Given the description of an element on the screen output the (x, y) to click on. 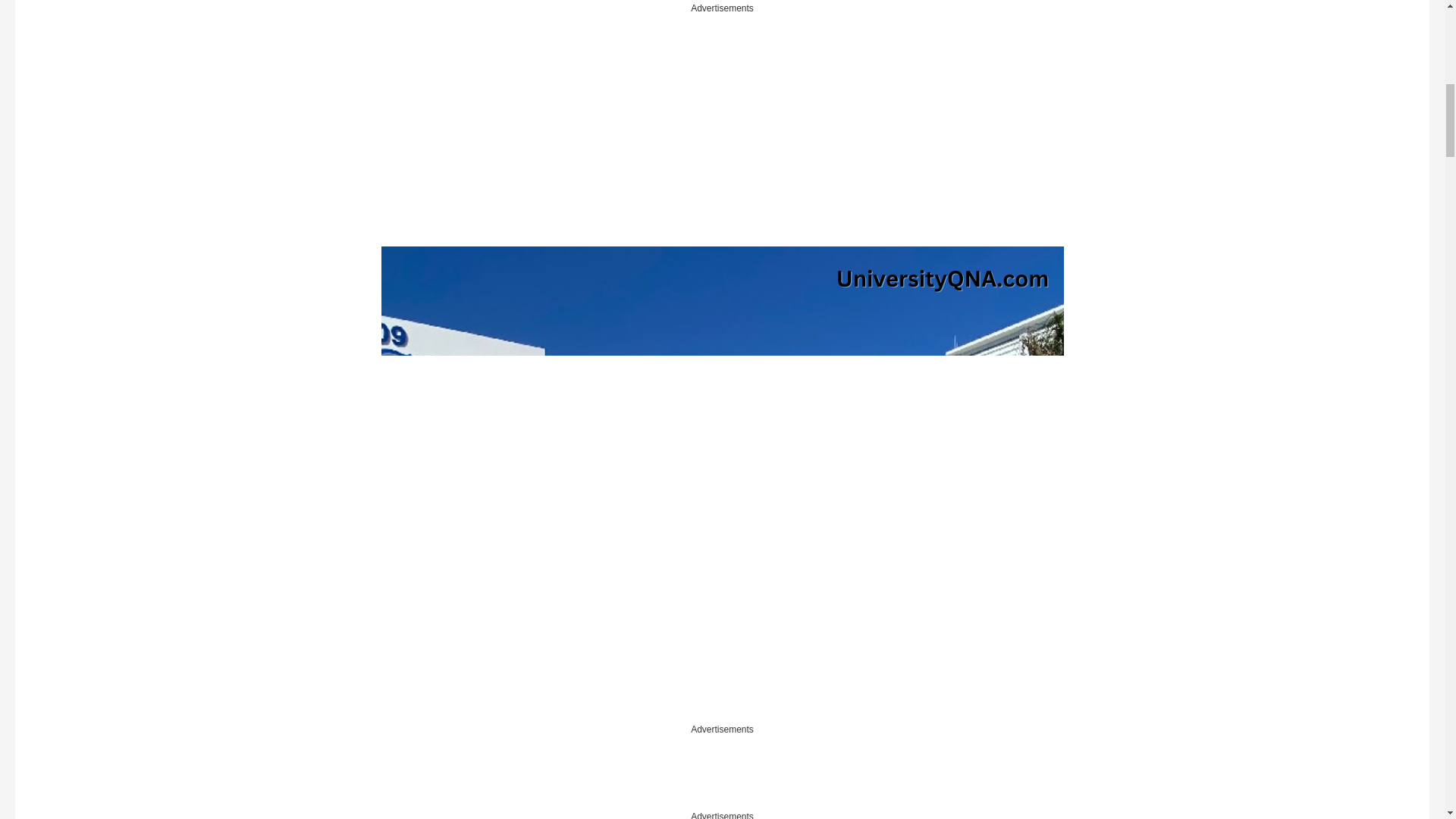
Advertisement (235, 130)
Advertisement (721, 771)
